Given the description of an element on the screen output the (x, y) to click on. 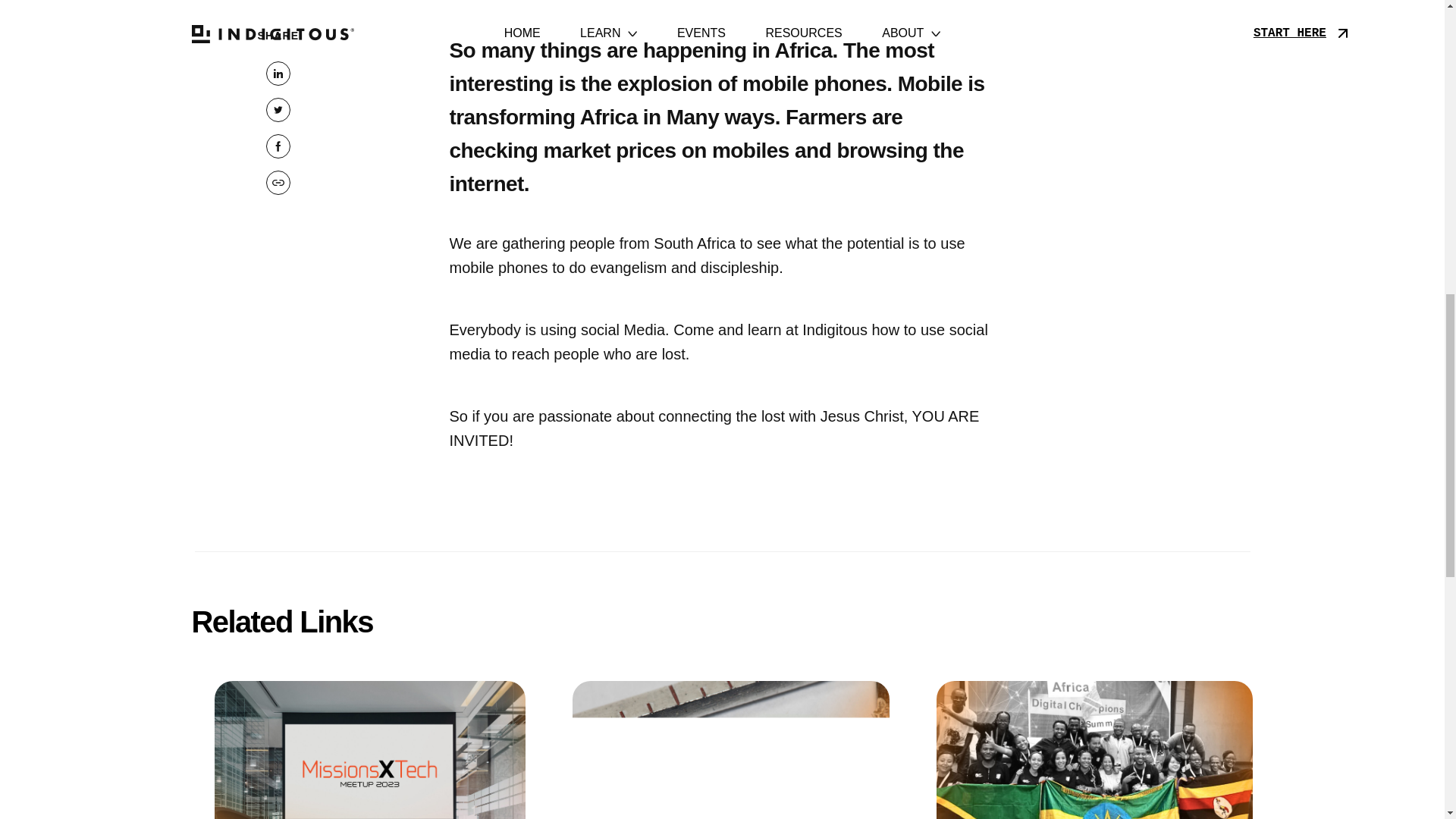
Share on Facebook (278, 146)
Copy link (278, 182)
Share on Twitter (278, 109)
Share on LinkedIn (278, 73)
